Given the description of an element on the screen output the (x, y) to click on. 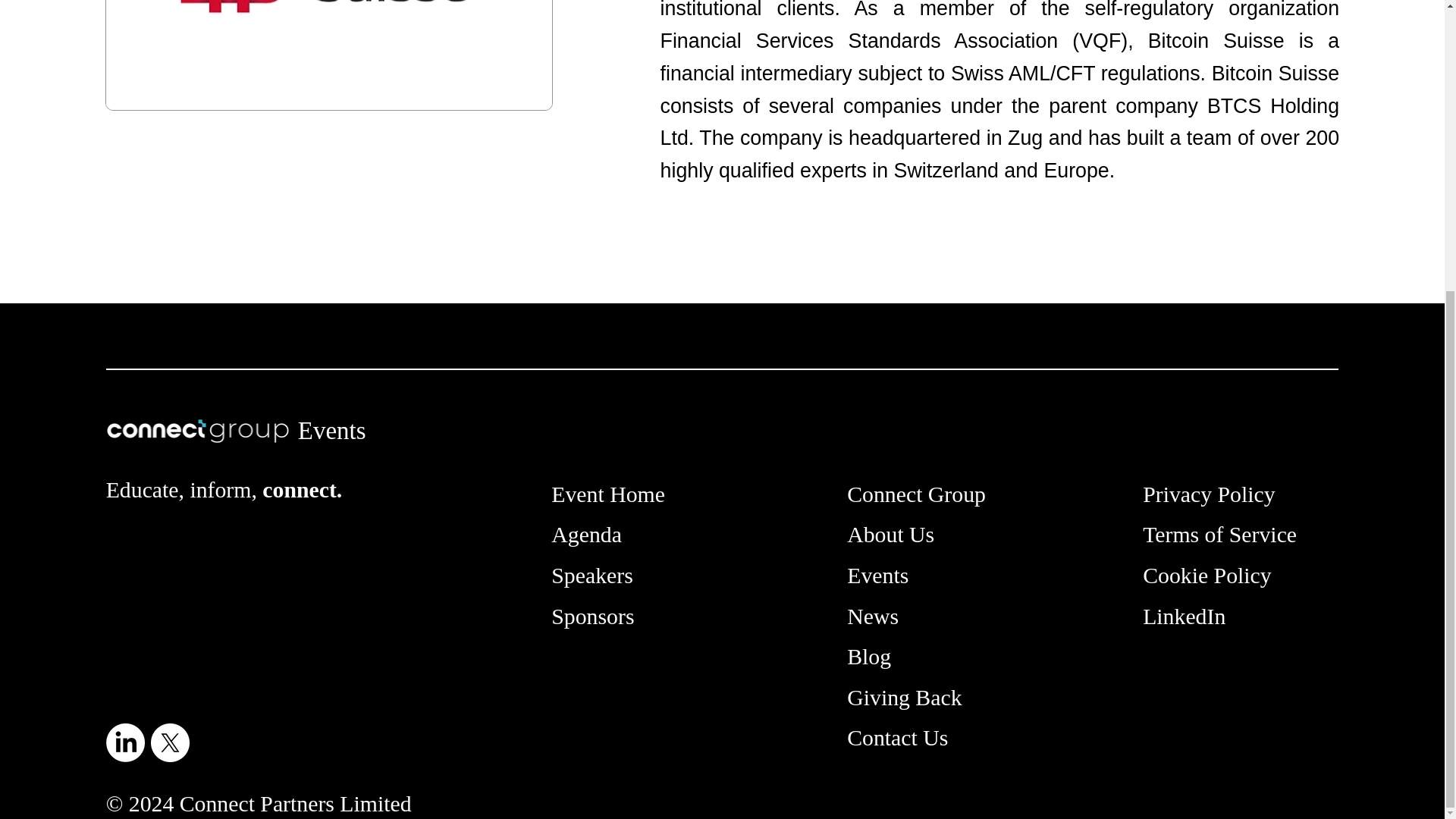
Agenda (586, 534)
LinkedIn (1183, 615)
Speakers (591, 575)
Event Home (608, 493)
Connect Group (916, 493)
Privacy Policy (1208, 493)
Blog (869, 656)
About Us (890, 534)
News (872, 615)
Terms of Service (1219, 534)
Giving Back (903, 697)
Cookie Policy (1206, 575)
Sponsors (592, 615)
Contact Us (897, 737)
Events (877, 575)
